Given the description of an element on the screen output the (x, y) to click on. 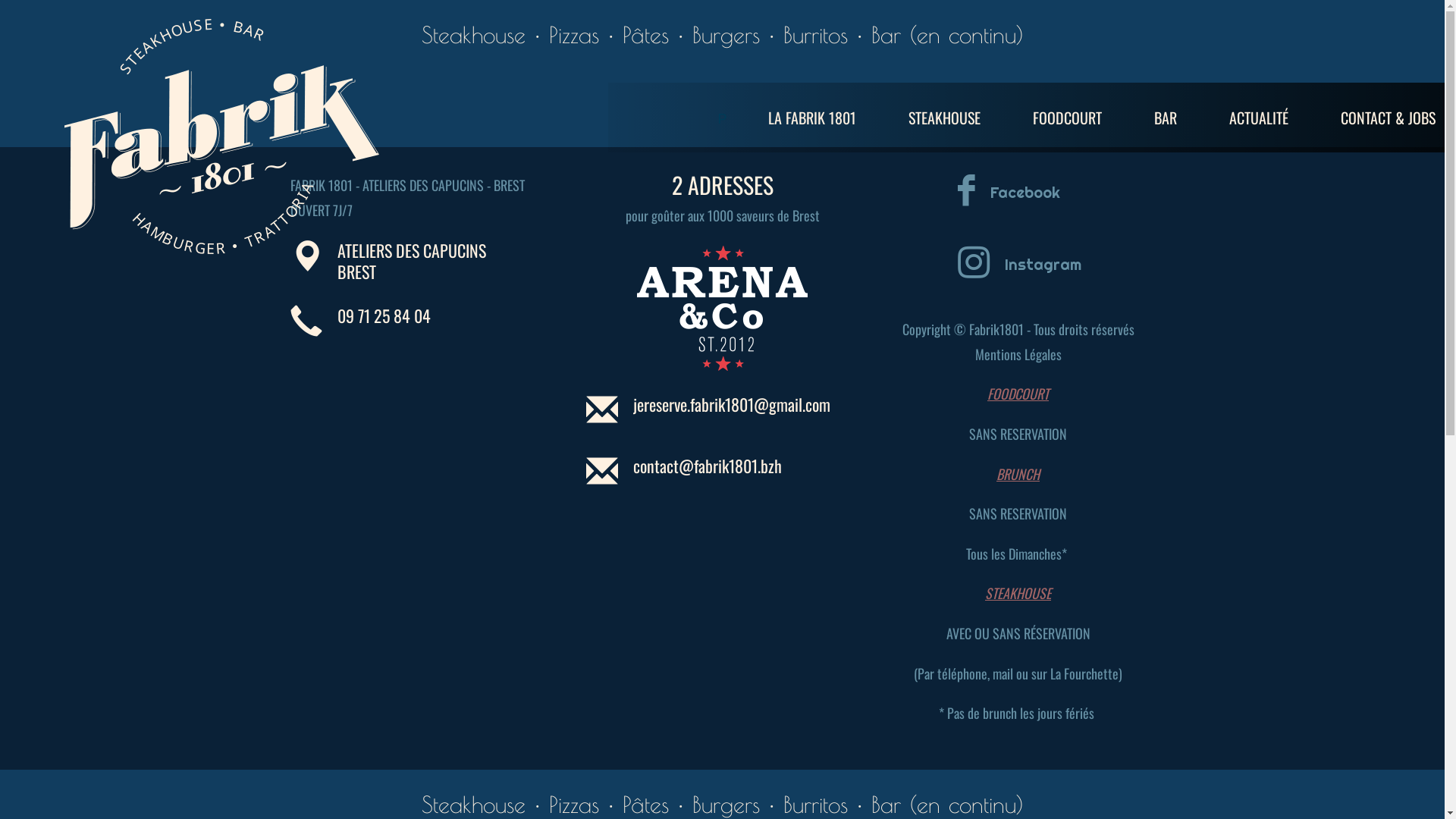
FOODCOURT Element type: text (1066, 117)
Instagram Fabrik Element type: hover (934, 267)
CONTACT & JOBS Element type: text (1387, 117)
Arena&Co Element type: hover (721, 307)
Facebook Element type: text (1025, 192)
Instagram Element type: text (1042, 264)
STEAKHOUSE Element type: text (944, 117)
LA FABRIK 1801 Element type: text (812, 117)
Facebook Fabrik Element type: hover (927, 195)
BAR Element type: text (1165, 117)
